Given the description of an element on the screen output the (x, y) to click on. 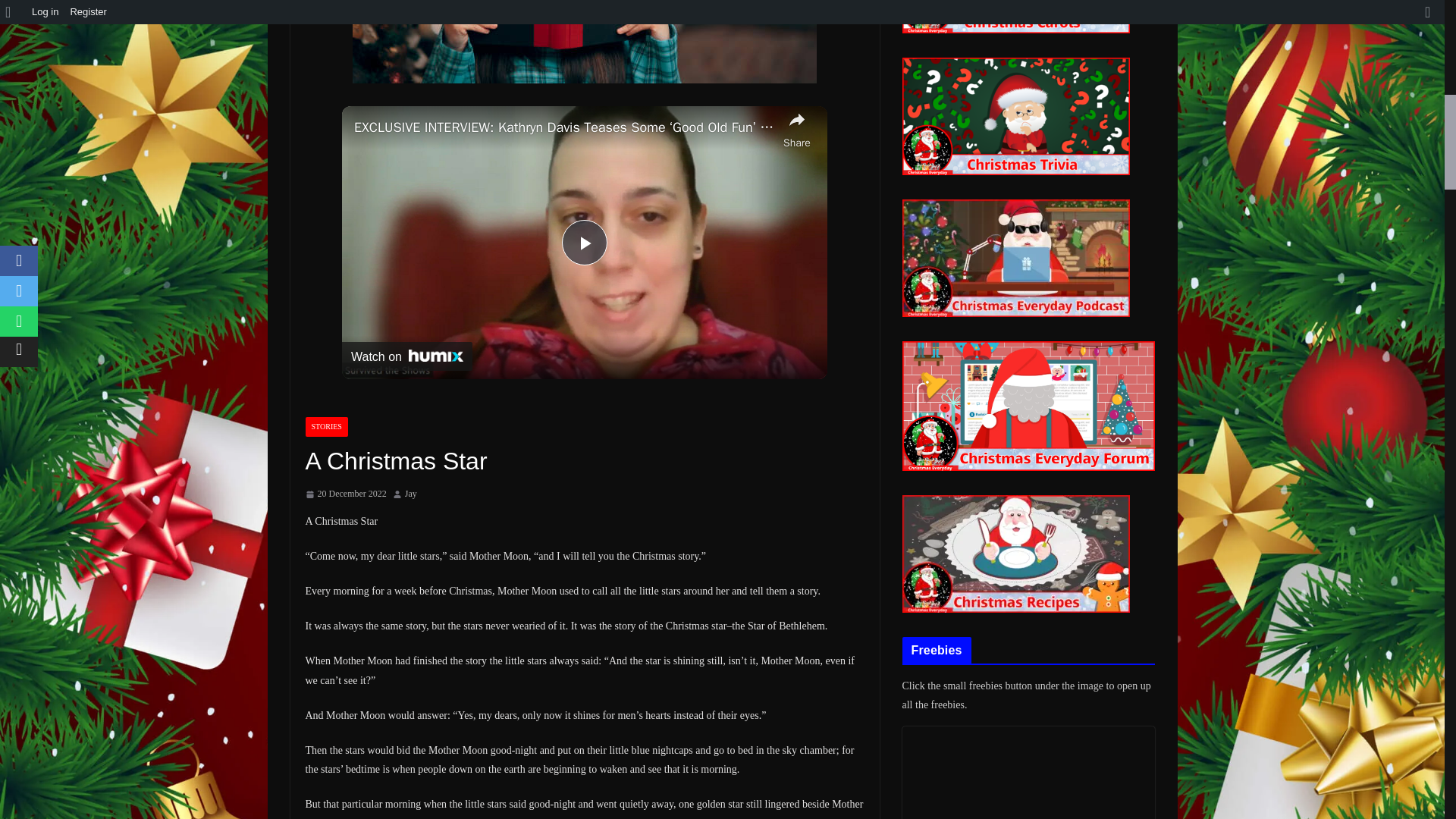
18:05 (344, 494)
Play Video (584, 242)
